Given the description of an element on the screen output the (x, y) to click on. 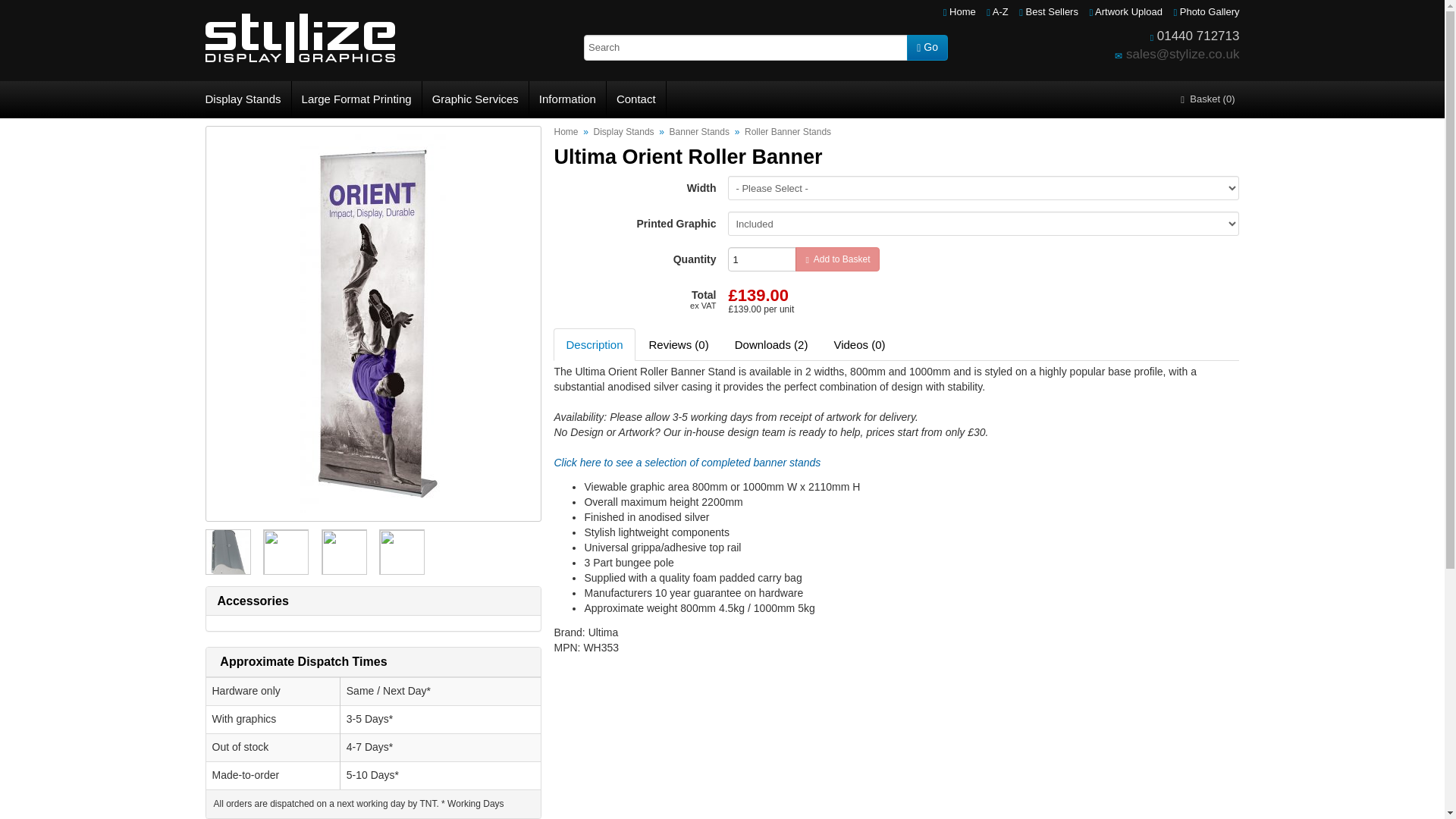
 A-Z (998, 11)
 Home (959, 11)
1 (762, 259)
 Photo Gallery (1206, 11)
 Best Sellers (1048, 11)
 Artwork Upload (1125, 11)
 Go (927, 47)
Display Stands (247, 99)
